Given the description of an element on the screen output the (x, y) to click on. 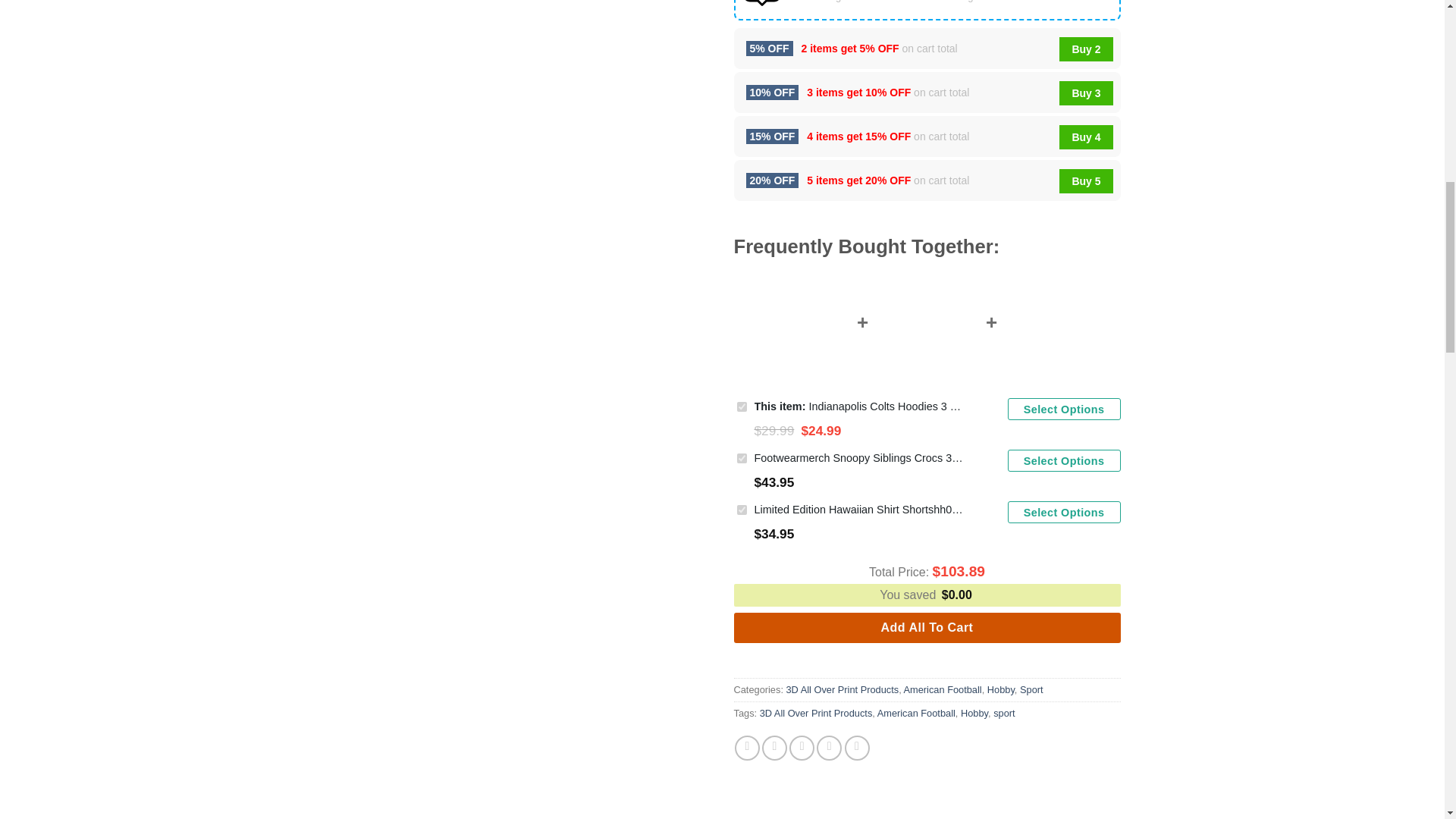
7095 (741, 510)
12908 (741, 406)
7012 (741, 458)
